Given the description of an element on the screen output the (x, y) to click on. 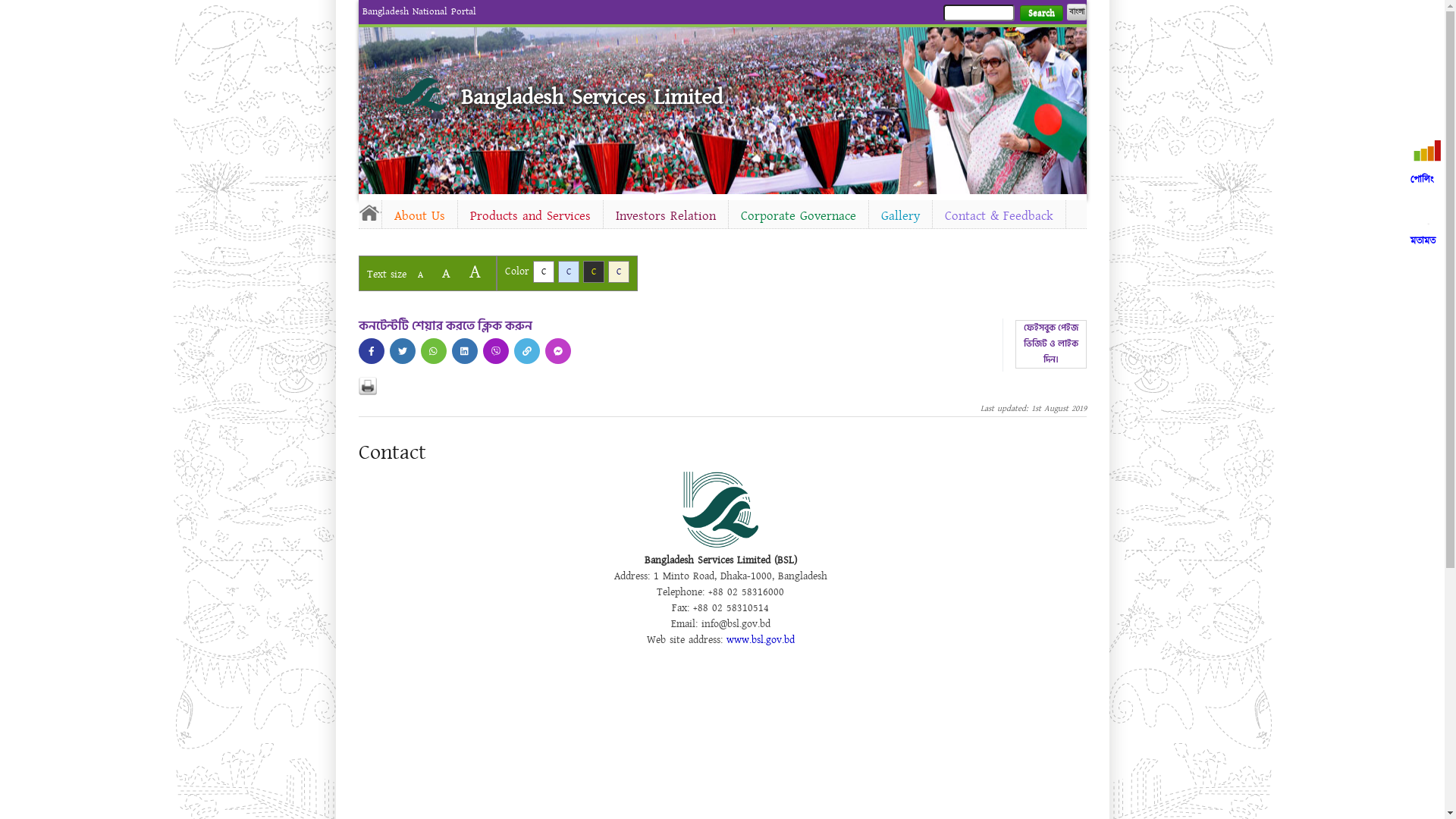
Home Element type: hover (368, 211)
Home Element type: hover (418, 92)
A Element type: text (445, 273)
Investors Relation Element type: text (665, 216)
C Element type: text (618, 271)
A Element type: text (419, 274)
Products and Services Element type: text (530, 216)
Contact & Feedback Element type: text (998, 216)
print Element type: hover (366, 385)
About Us Element type: text (419, 216)
A Element type: text (474, 271)
C Element type: text (592, 271)
Search Element type: text (1040, 13)
Corporate Governace Element type: text (797, 216)
Bangladesh National Portal Element type: text (419, 11)
C Element type: text (542, 271)
Gallery Element type: text (900, 216)
C Element type: text (568, 271)
www.bsl.gov.bd Element type: text (760, 639)
Bangladesh Services Limited Element type: text (591, 96)
